Given the description of an element on the screen output the (x, y) to click on. 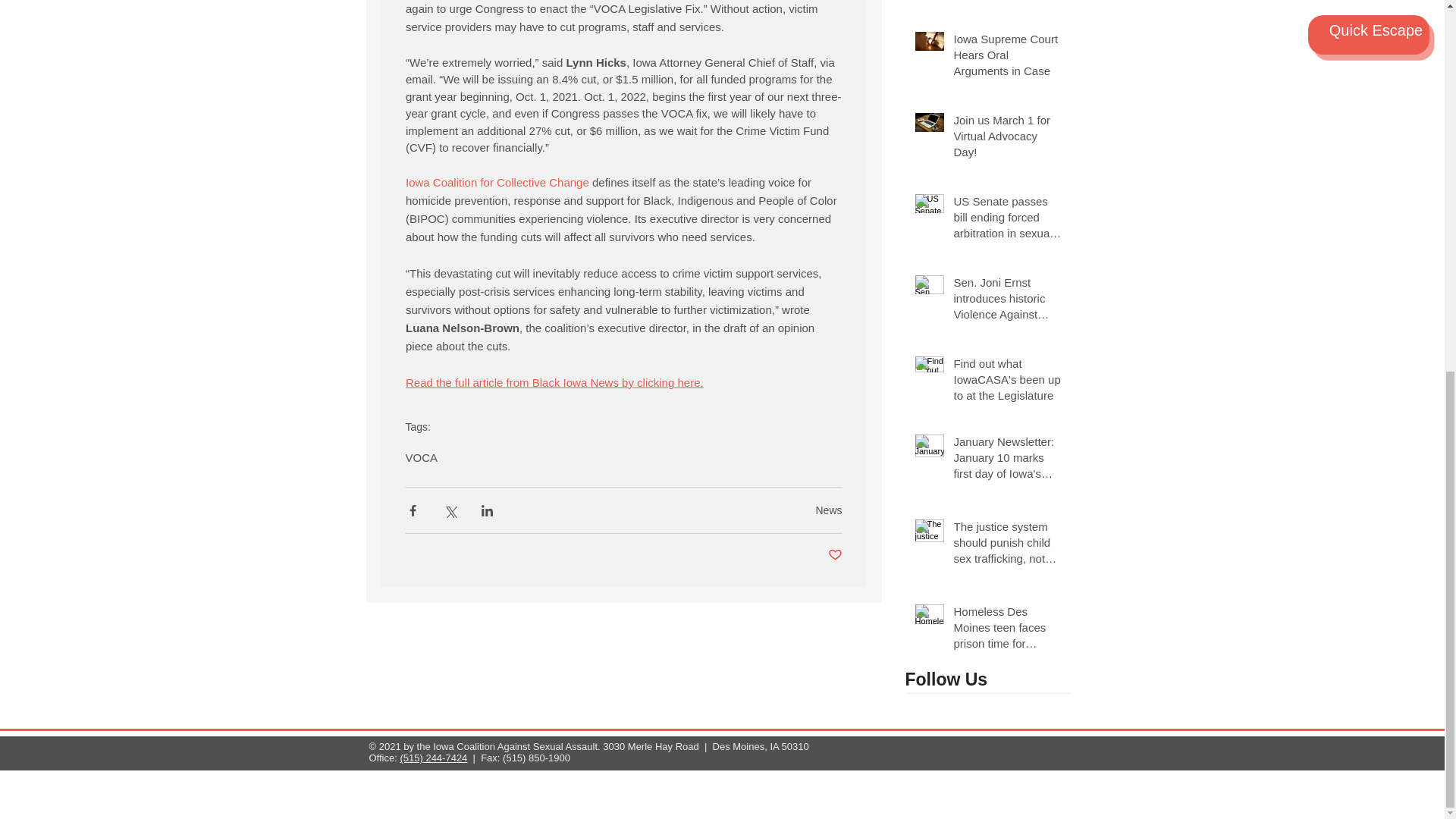
VOCA (421, 457)
Read the full article from Black Iowa News by clicking here. (553, 382)
Iowa Coalition for Collective Change (496, 182)
